Given the description of an element on the screen output the (x, y) to click on. 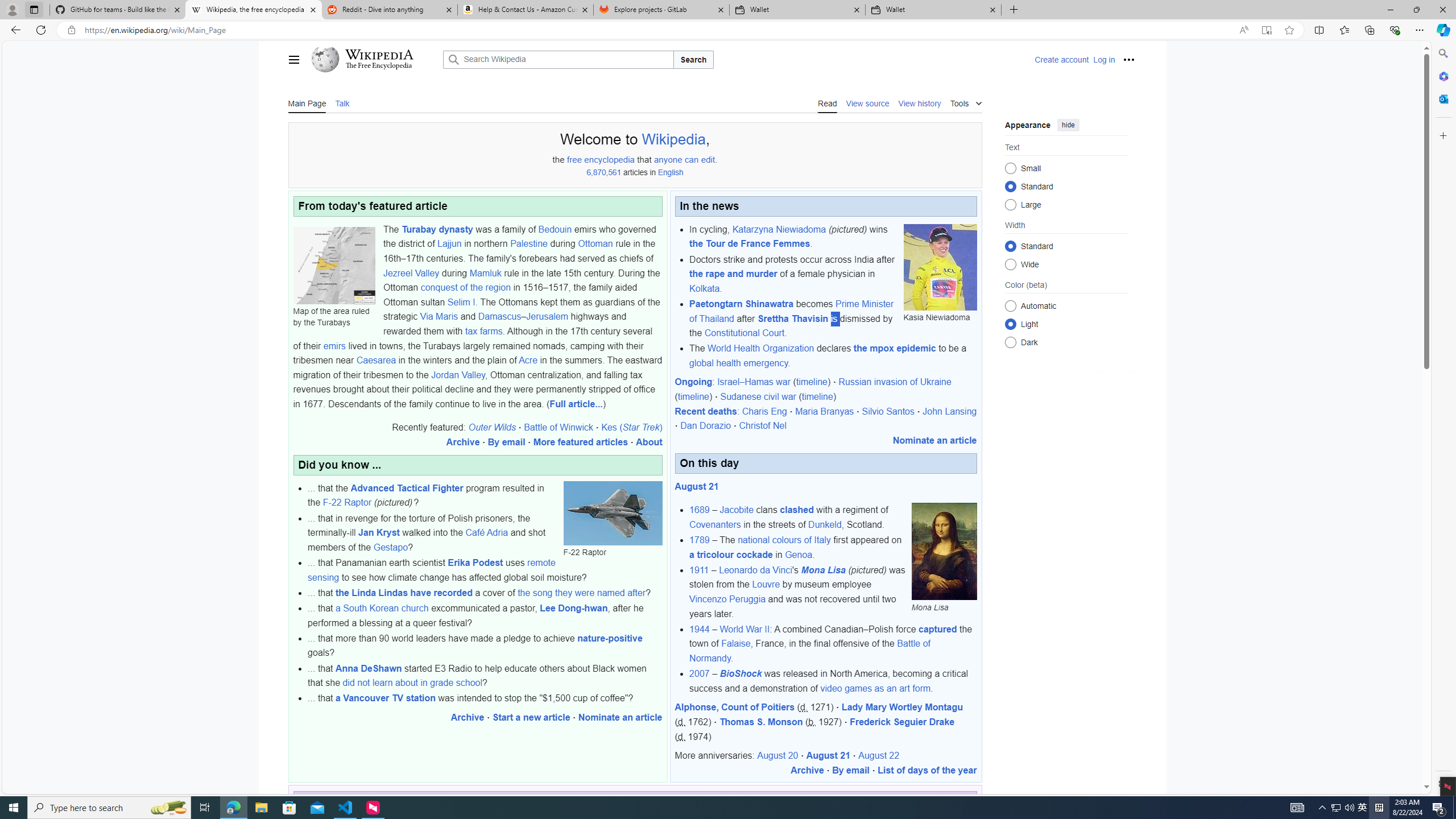
By email (850, 769)
Mamluk (485, 272)
